Given the description of an element on the screen output the (x, y) to click on. 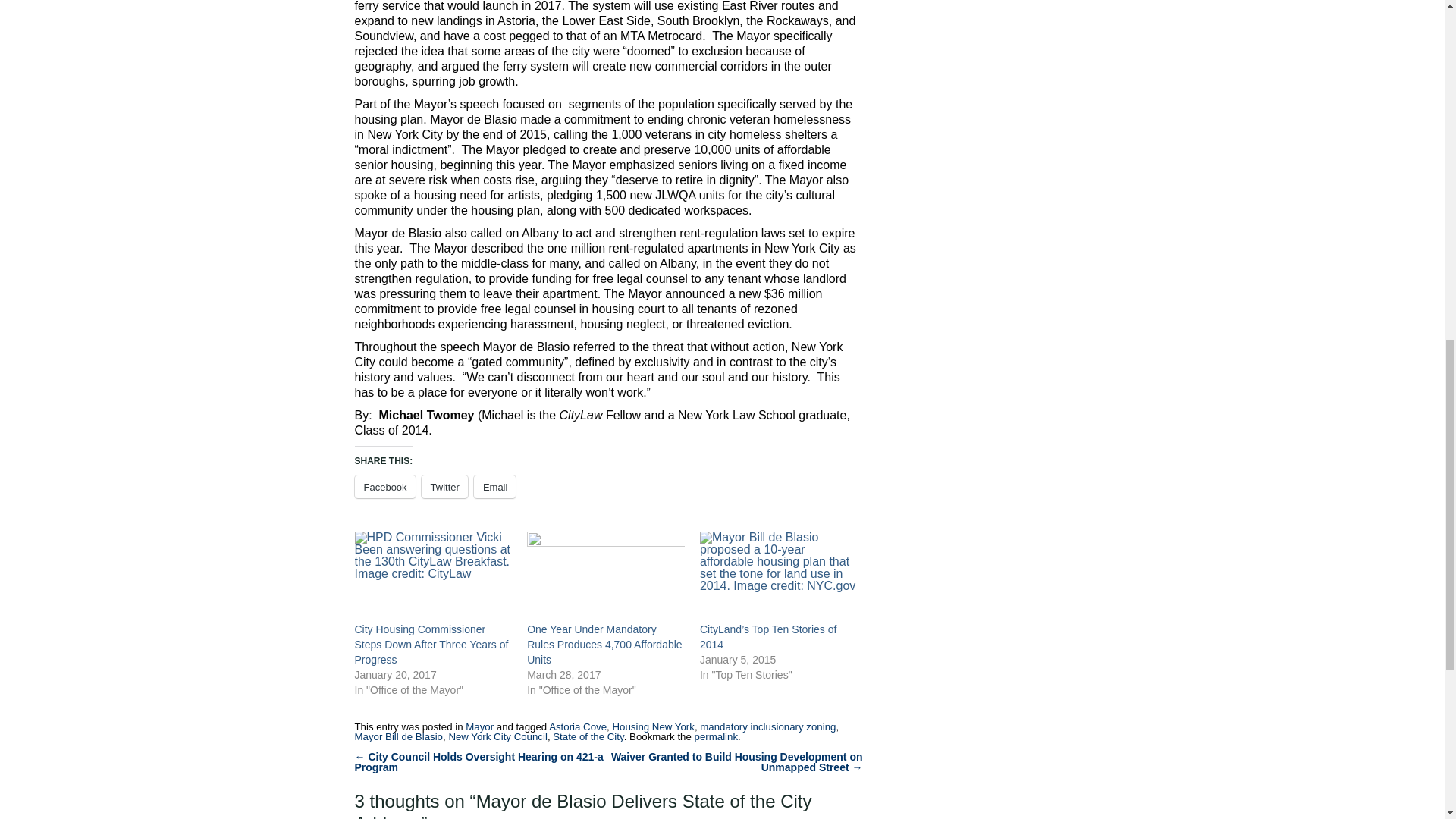
Click to share on Twitter (444, 486)
Mayor (479, 726)
mandatory inclusionary zoning (767, 726)
New York City Council (497, 736)
Twitter (444, 486)
Email (495, 486)
Astoria Cove (577, 726)
State of the City (588, 736)
Mayor Bill de Blasio (399, 736)
Click to share on Facebook (384, 486)
